Given the description of an element on the screen output the (x, y) to click on. 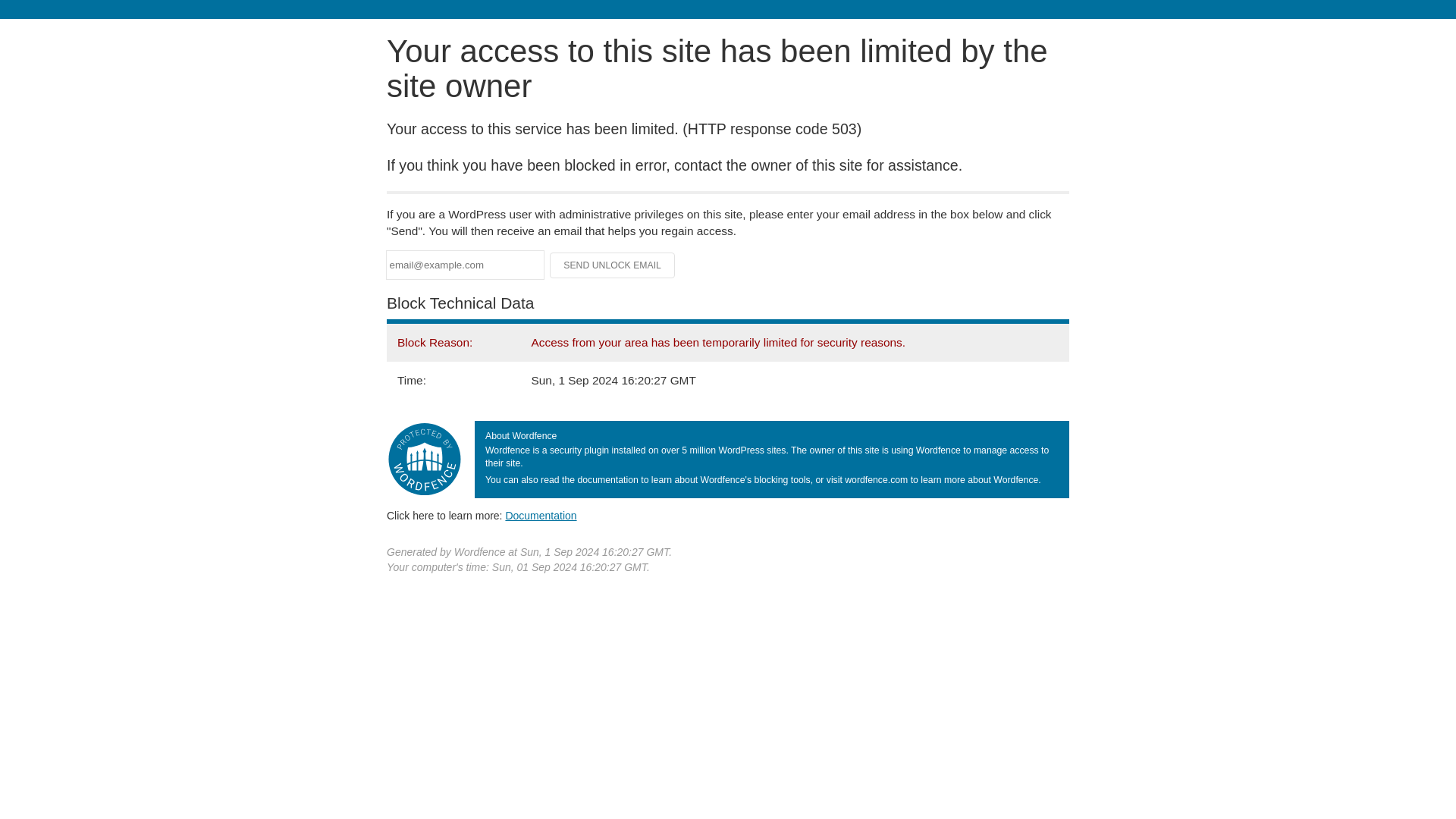
Send Unlock Email (612, 265)
Documentation (540, 515)
Send Unlock Email (612, 265)
